Given the description of an element on the screen output the (x, y) to click on. 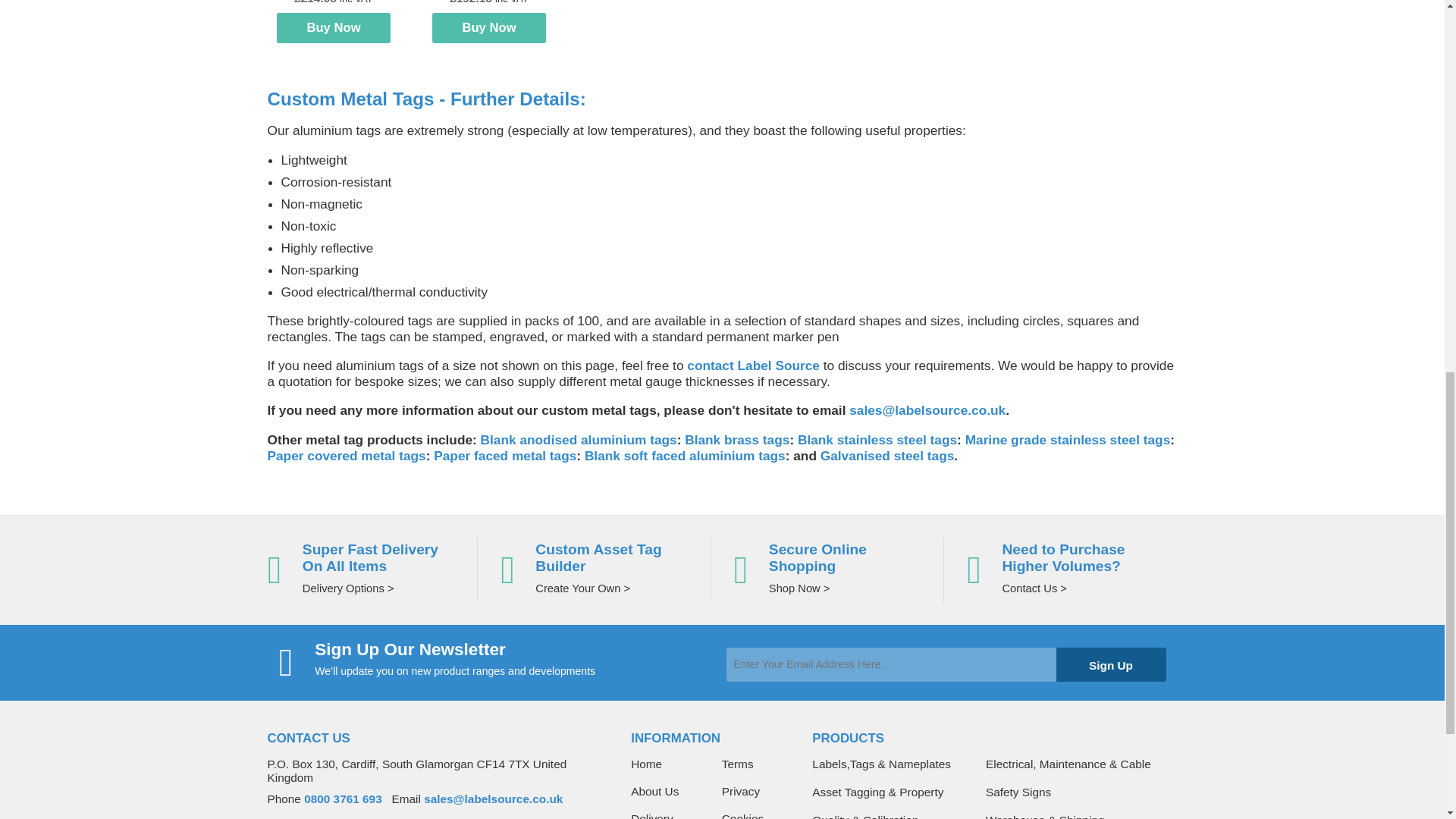
Sign Up (1110, 664)
